Given the description of an element on the screen output the (x, y) to click on. 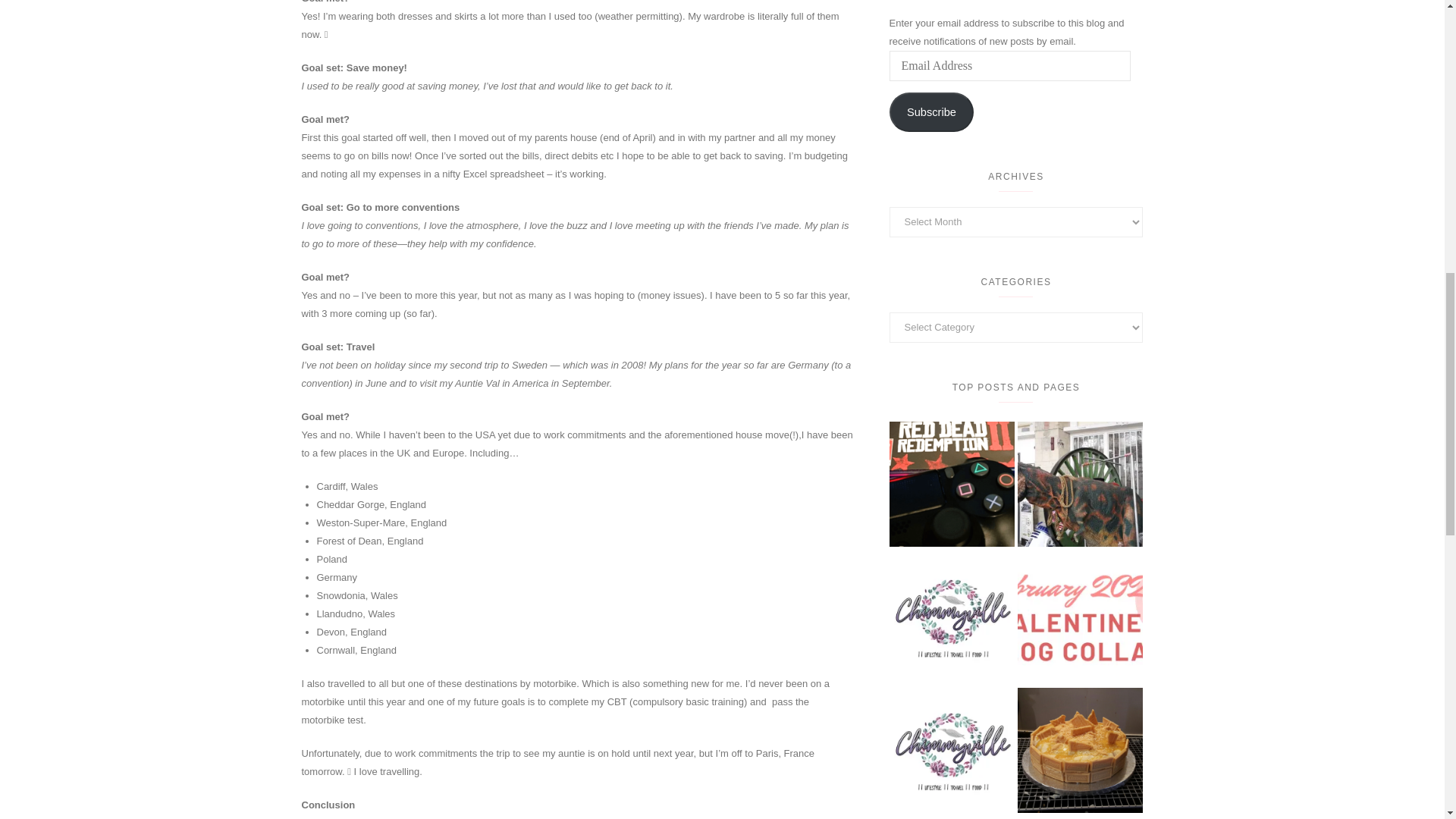
What My Parents Taught Me About Relationships (1079, 616)
Swindon Film and Comic Con 2016 (1079, 484)
Caramac cake (1079, 750)
My Bucketlist (950, 750)
Weekend Away Essentials (950, 616)
The Gamer Tag (950, 484)
